Given the description of an element on the screen output the (x, y) to click on. 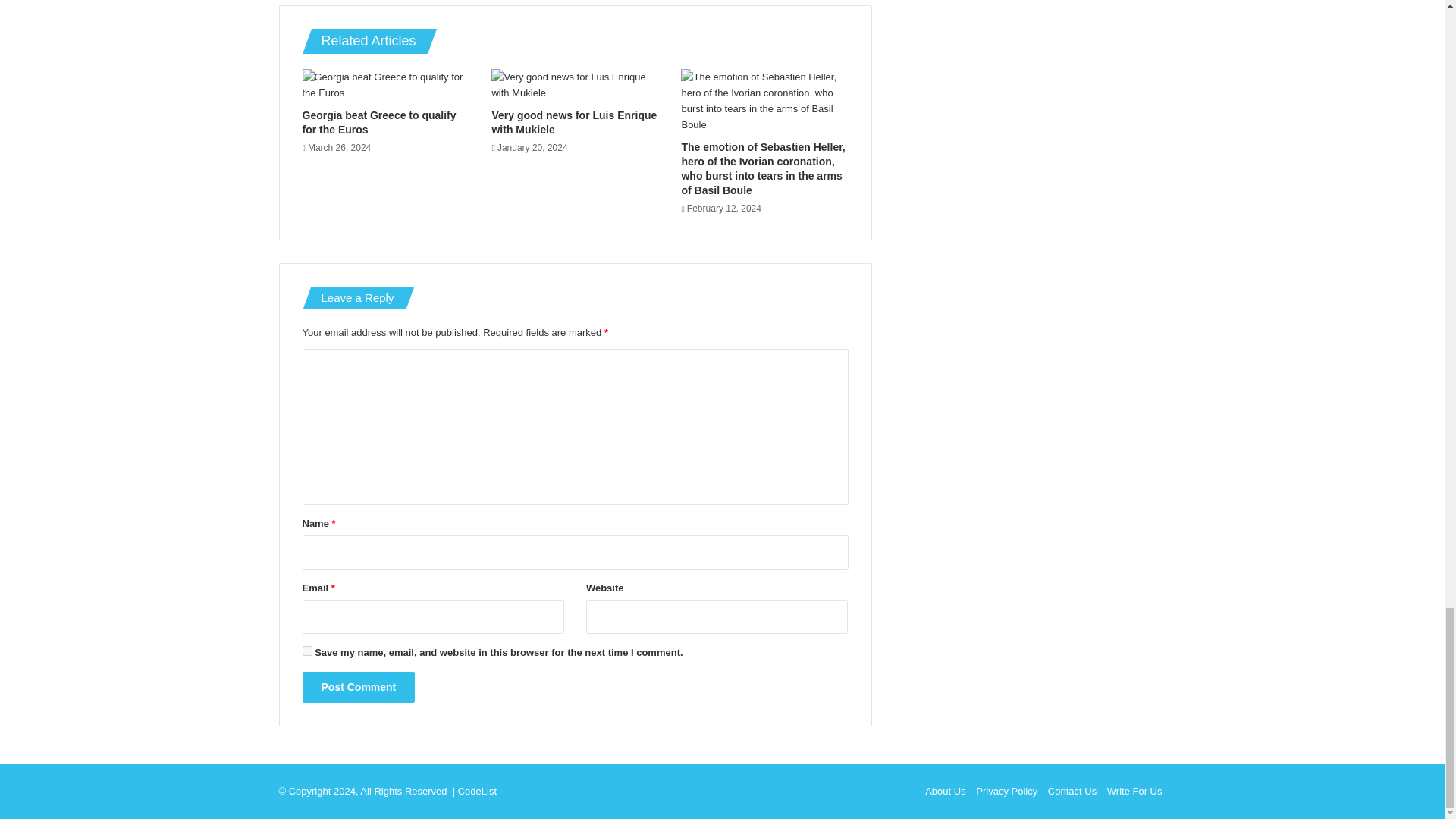
yes (306, 651)
Post Comment (357, 686)
Georgia beat Greece to qualify for the Euros (378, 121)
Very good news for Luis Enrique with Mukiele (574, 121)
